Given the description of an element on the screen output the (x, y) to click on. 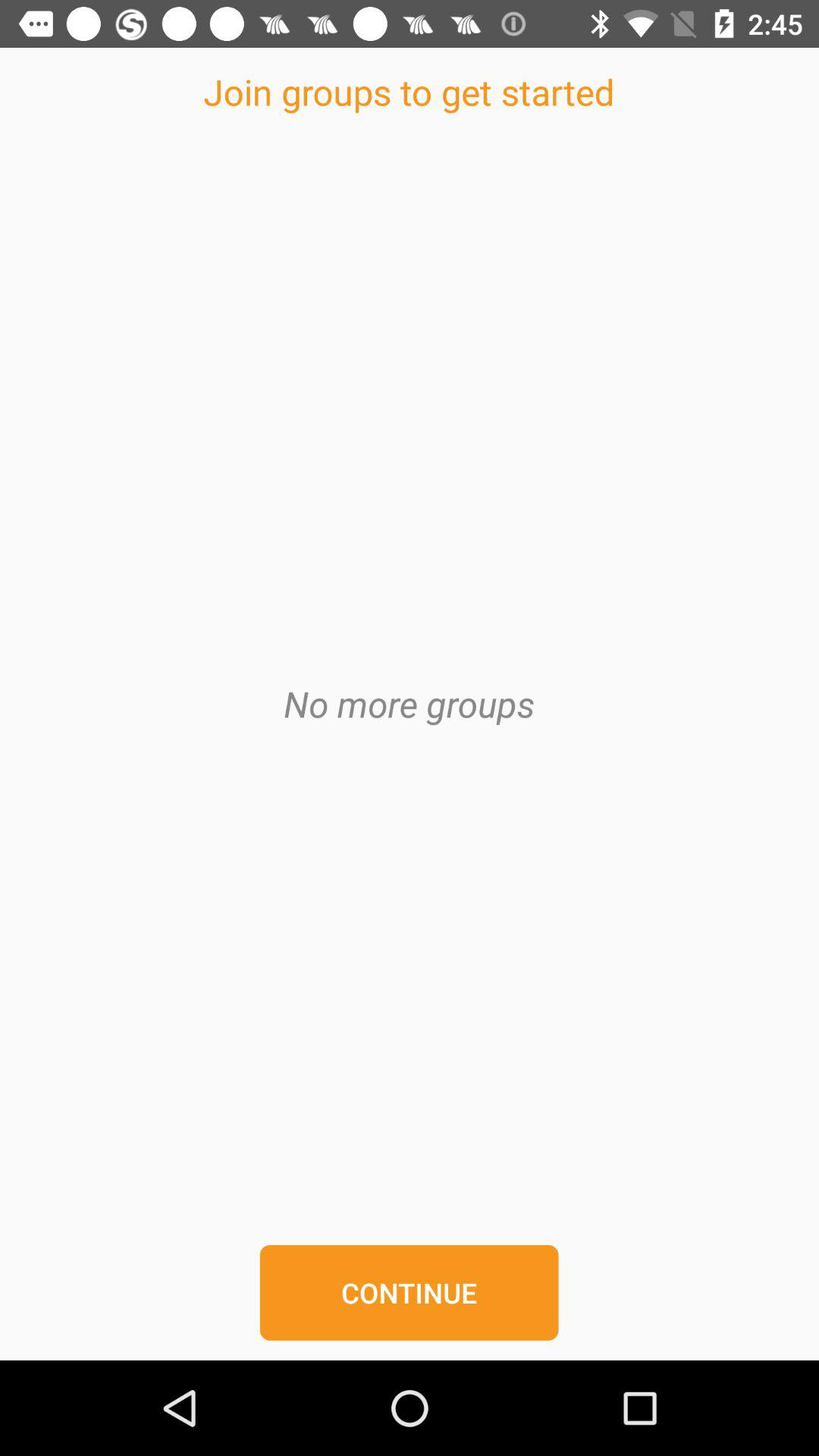
click on the continue button (409, 1309)
